Given the description of an element on the screen output the (x, y) to click on. 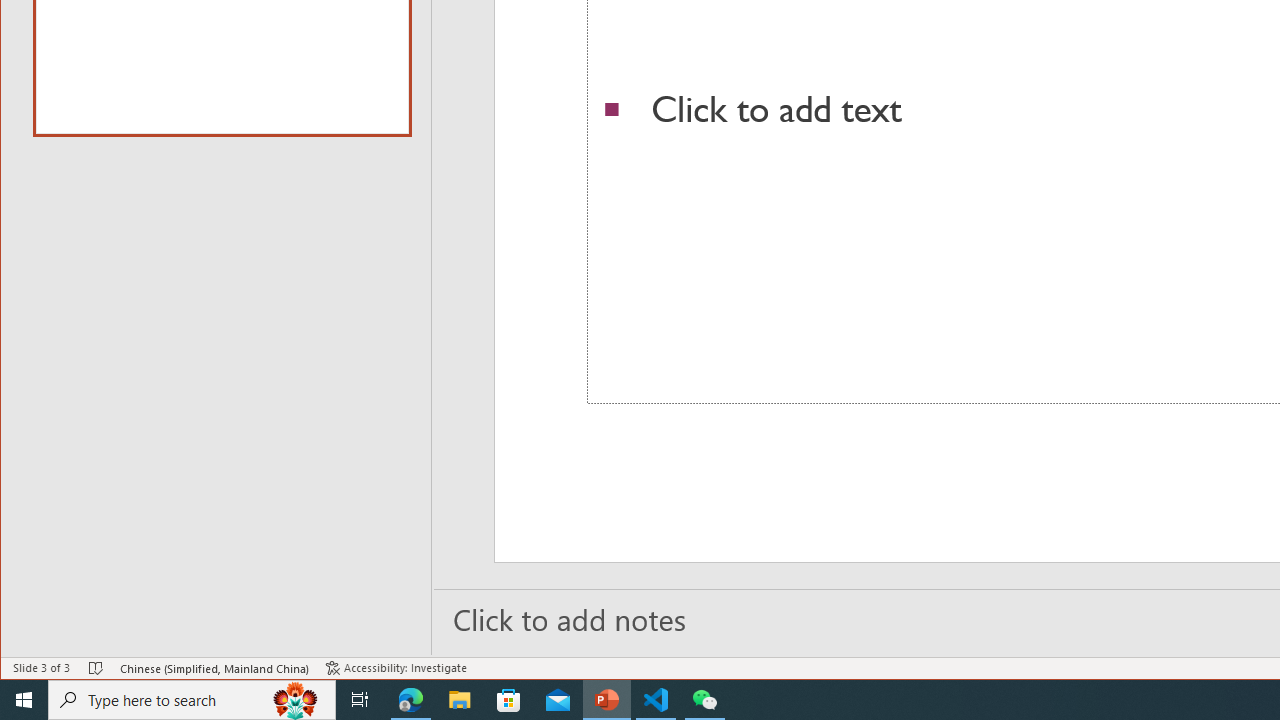
Microsoft Edge - 1 running window (411, 699)
WeChat - 1 running window (704, 699)
